Given the description of an element on the screen output the (x, y) to click on. 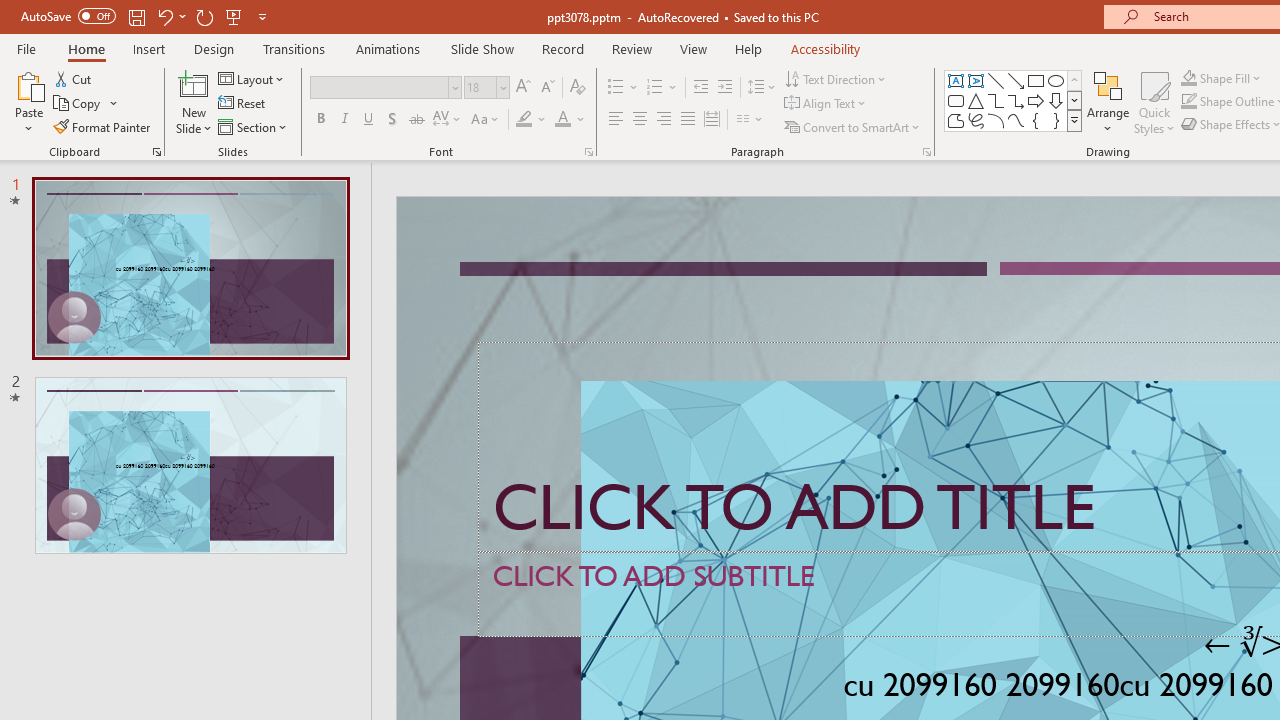
Convert to SmartArt (853, 126)
Freeform: Scribble (975, 120)
Increase Indent (725, 87)
Font... (588, 151)
Character Spacing (447, 119)
Shapes (1074, 120)
Center (639, 119)
Font Color (569, 119)
Cut (73, 78)
Clear Formatting (577, 87)
Numbering (661, 87)
